Given the description of an element on the screen output the (x, y) to click on. 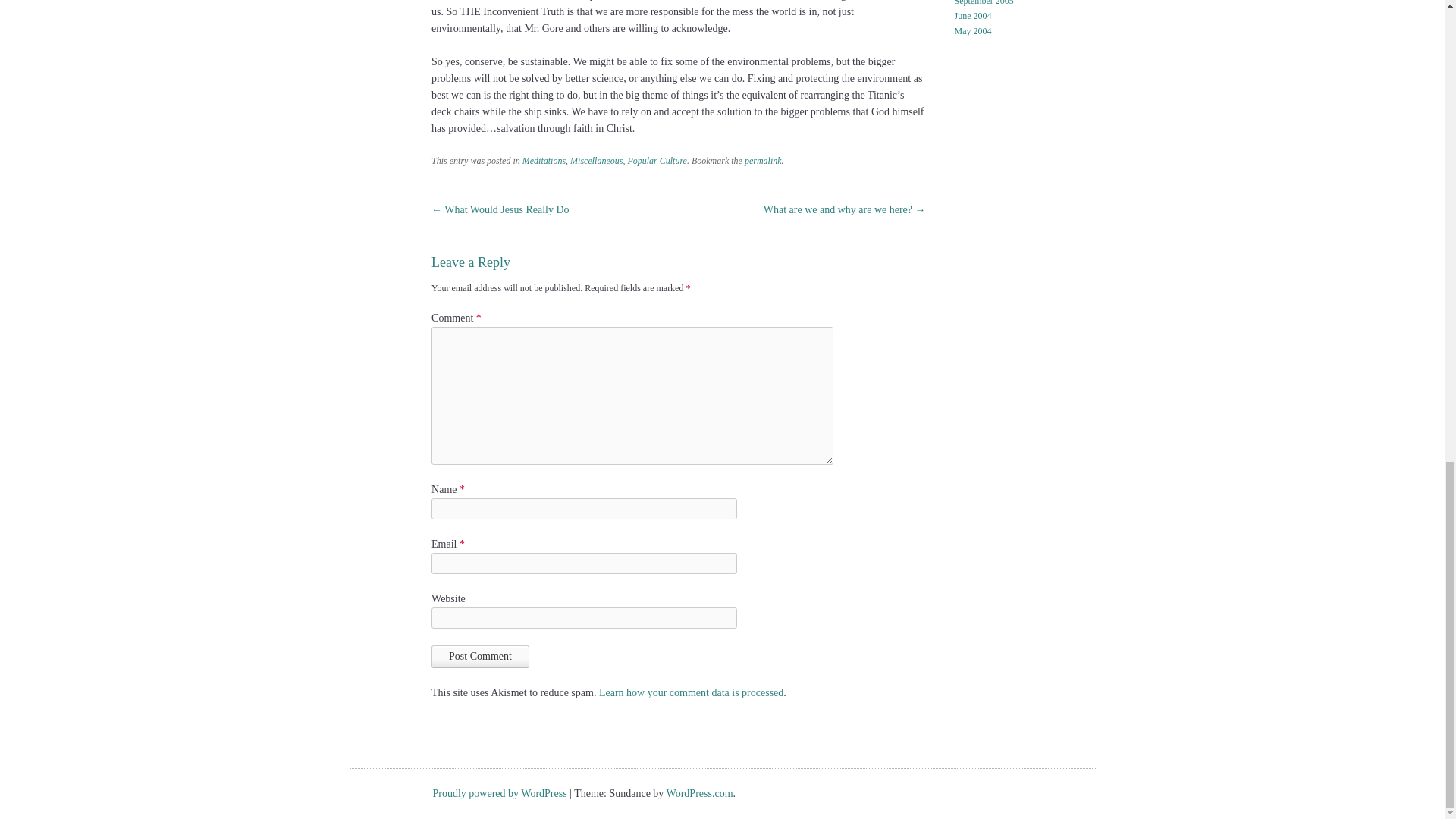
Meditations (544, 160)
Post Comment (479, 656)
Learn how your comment data is processed (690, 692)
permalink (762, 160)
Miscellaneous (596, 160)
Popular Culture (657, 160)
Post Comment (479, 656)
Permalink to The Inconvenient Truth (762, 160)
